Given the description of an element on the screen output the (x, y) to click on. 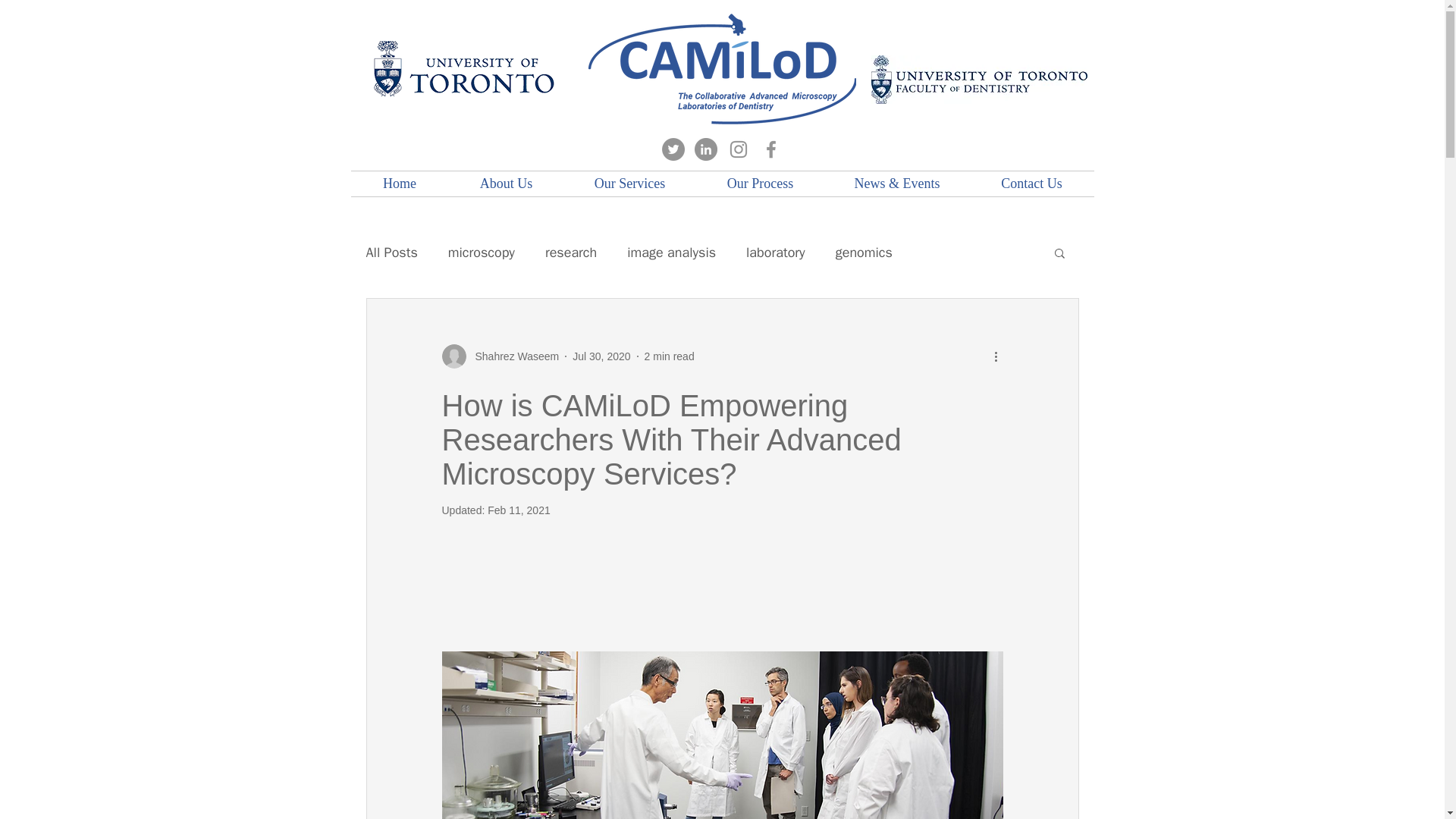
Our Process (760, 183)
image analysis (671, 252)
2 min read (669, 356)
genomics (863, 252)
Contact Us (1031, 183)
Shahrez Waseem (500, 355)
remote content (722, 597)
Feb 11, 2021 (518, 510)
research (570, 252)
Home (399, 183)
